Given the description of an element on the screen output the (x, y) to click on. 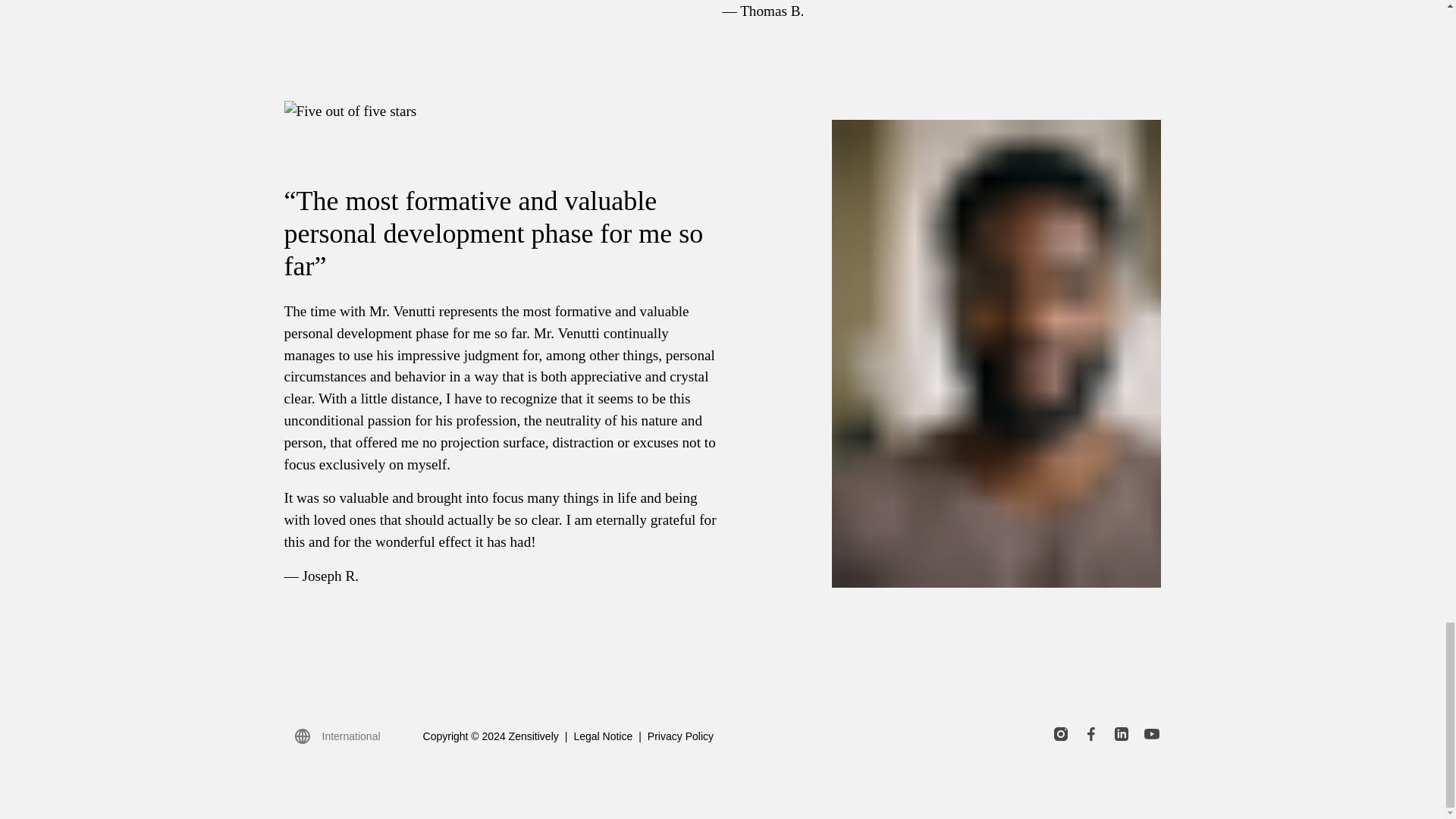
Legal Notice (602, 736)
International (337, 736)
Privacy Policy (680, 736)
